Given the description of an element on the screen output the (x, y) to click on. 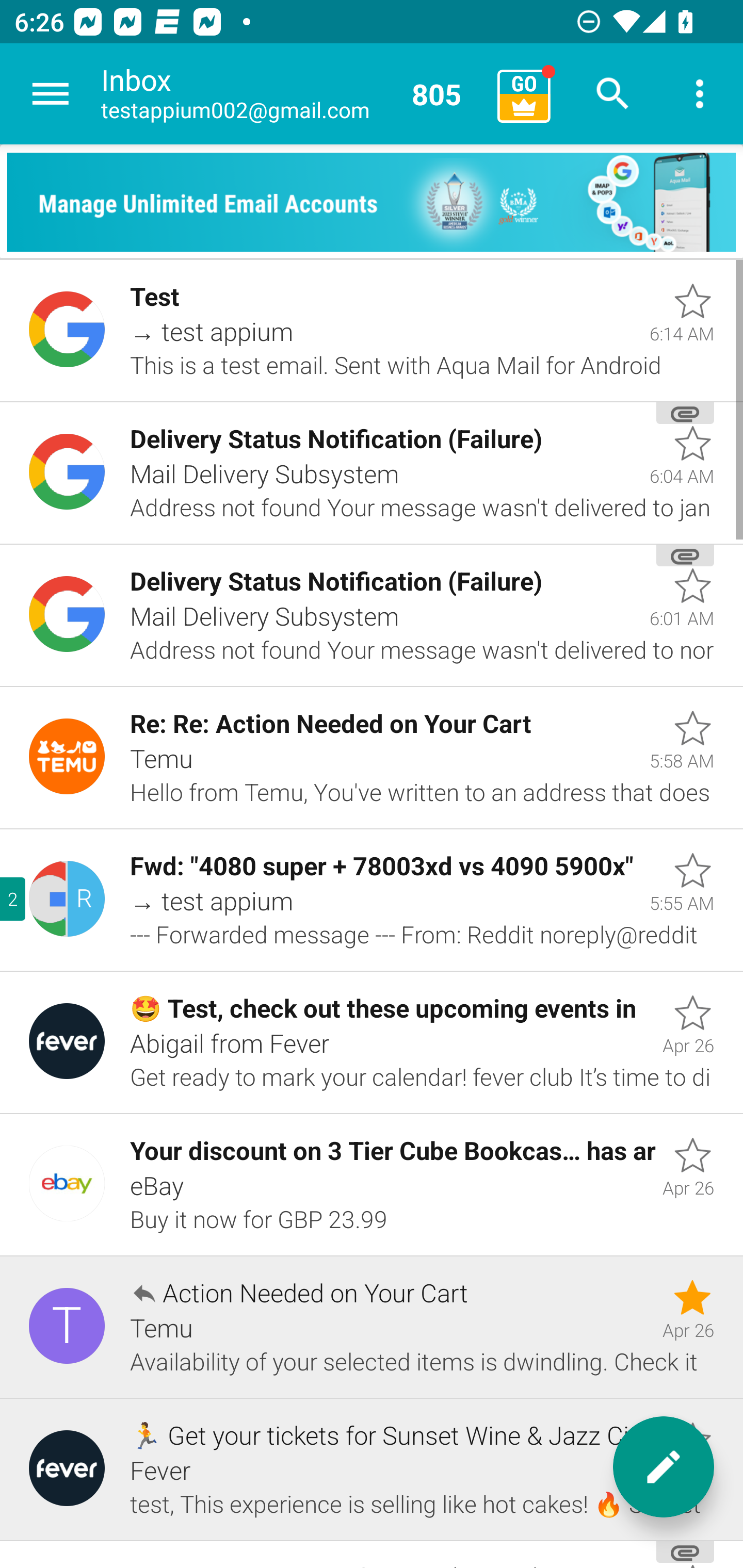
Navigate up (50, 93)
Inbox testappium002@gmail.com 805 (291, 93)
Search (612, 93)
More options (699, 93)
New message (663, 1466)
